Given the description of an element on the screen output the (x, y) to click on. 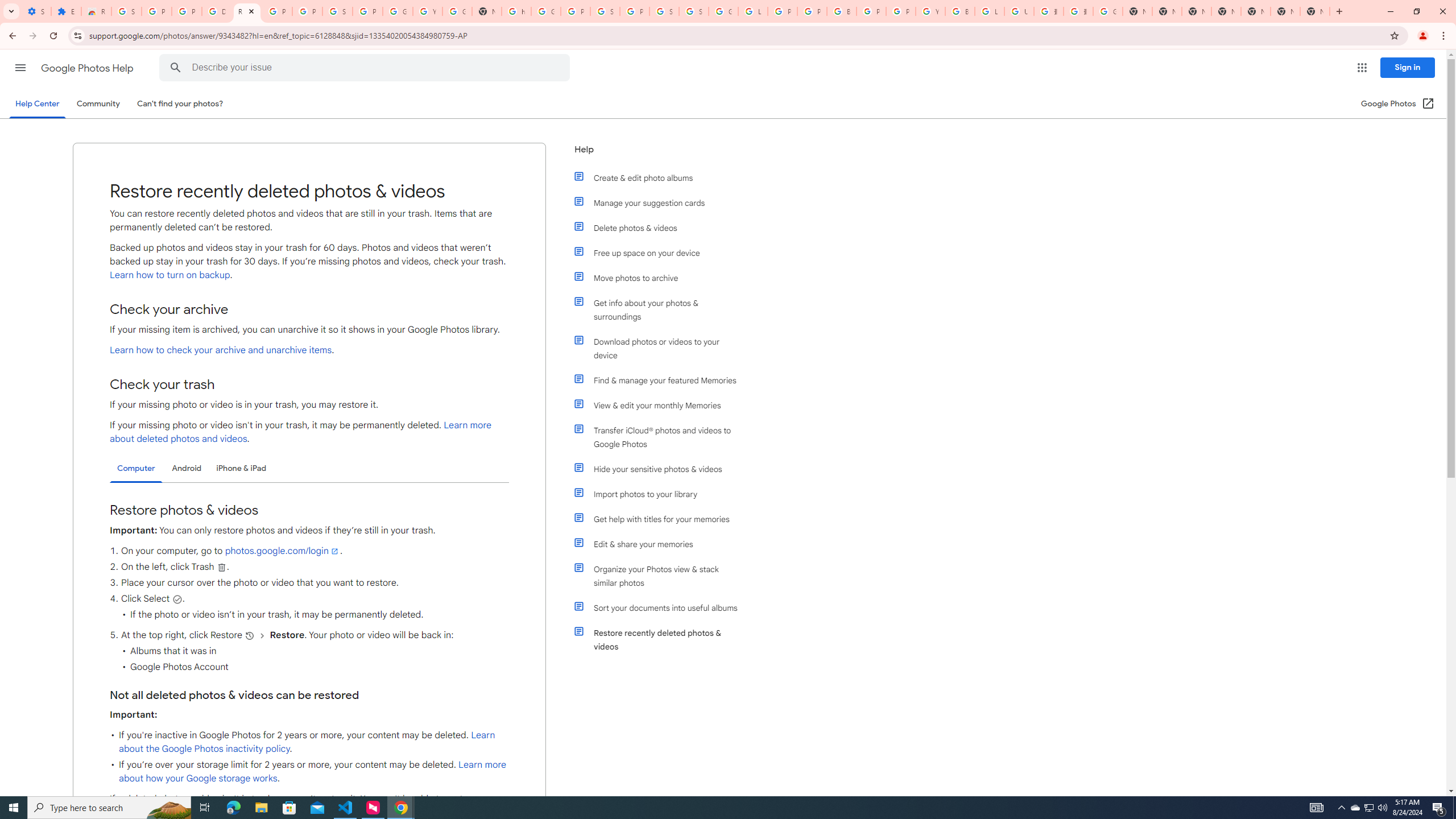
YouTube (930, 11)
Computer (136, 469)
Sign in - Google Accounts (337, 11)
Sign in - Google Accounts (693, 11)
Google Account (397, 11)
Sign in - Google Accounts (126, 11)
Learn more about deleted photos and videos (300, 431)
Can't find your photos? (180, 103)
